Given the description of an element on the screen output the (x, y) to click on. 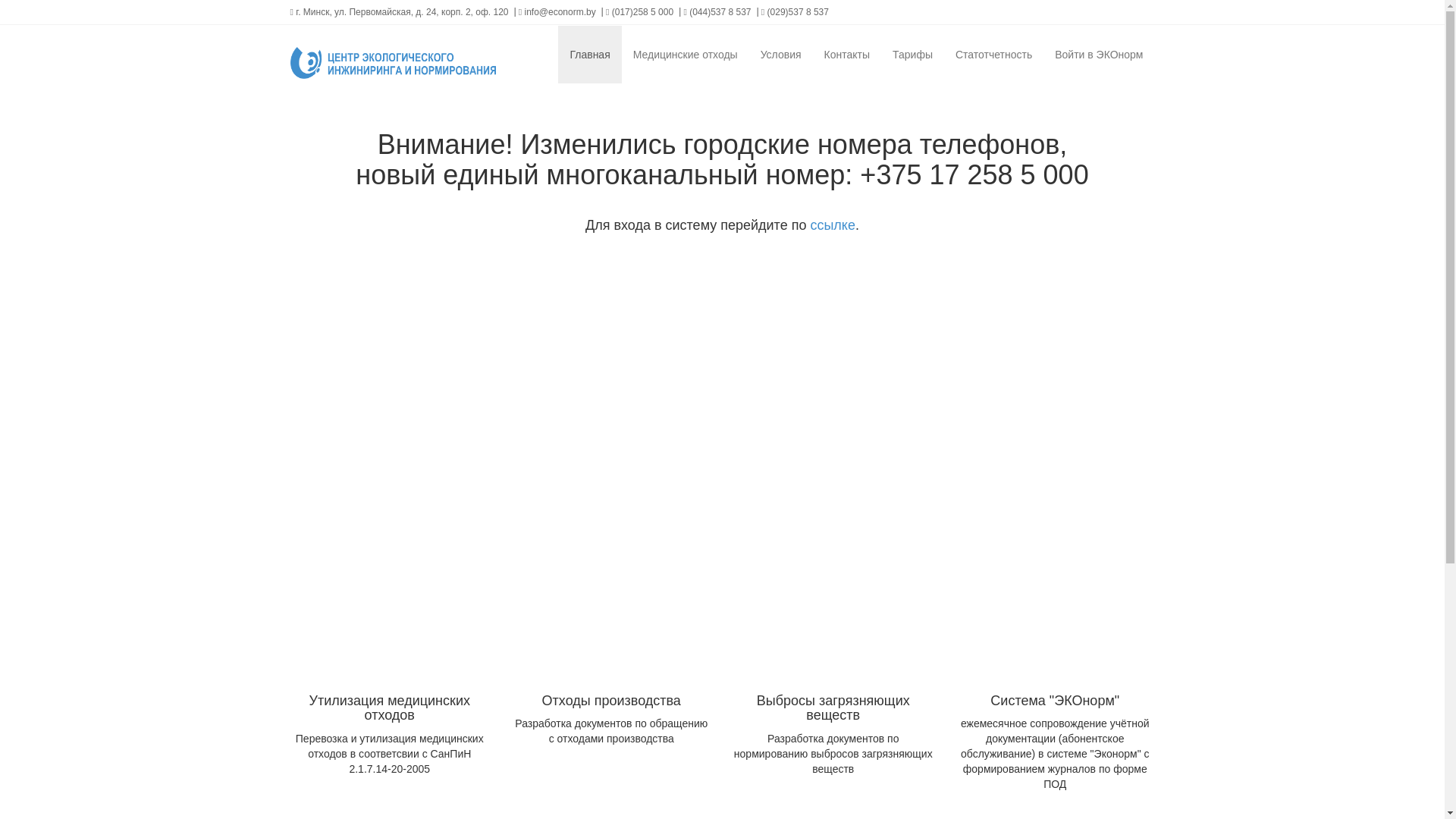
info@econorm.by Element type: text (557, 11)
